Given the description of an element on the screen output the (x, y) to click on. 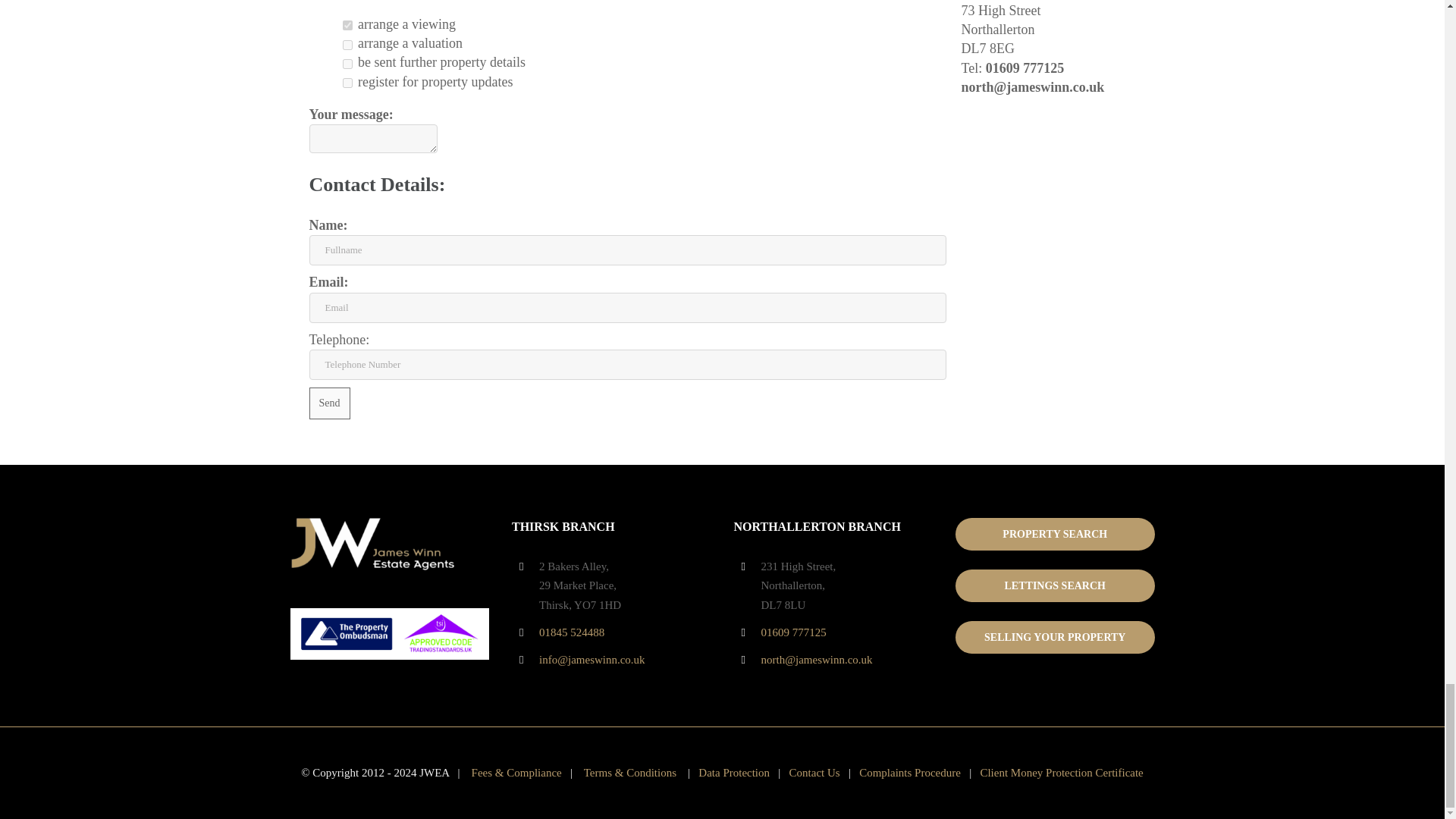
true (347, 25)
Send (329, 403)
true (347, 82)
true (347, 63)
true (347, 44)
